Given the description of an element on the screen output the (x, y) to click on. 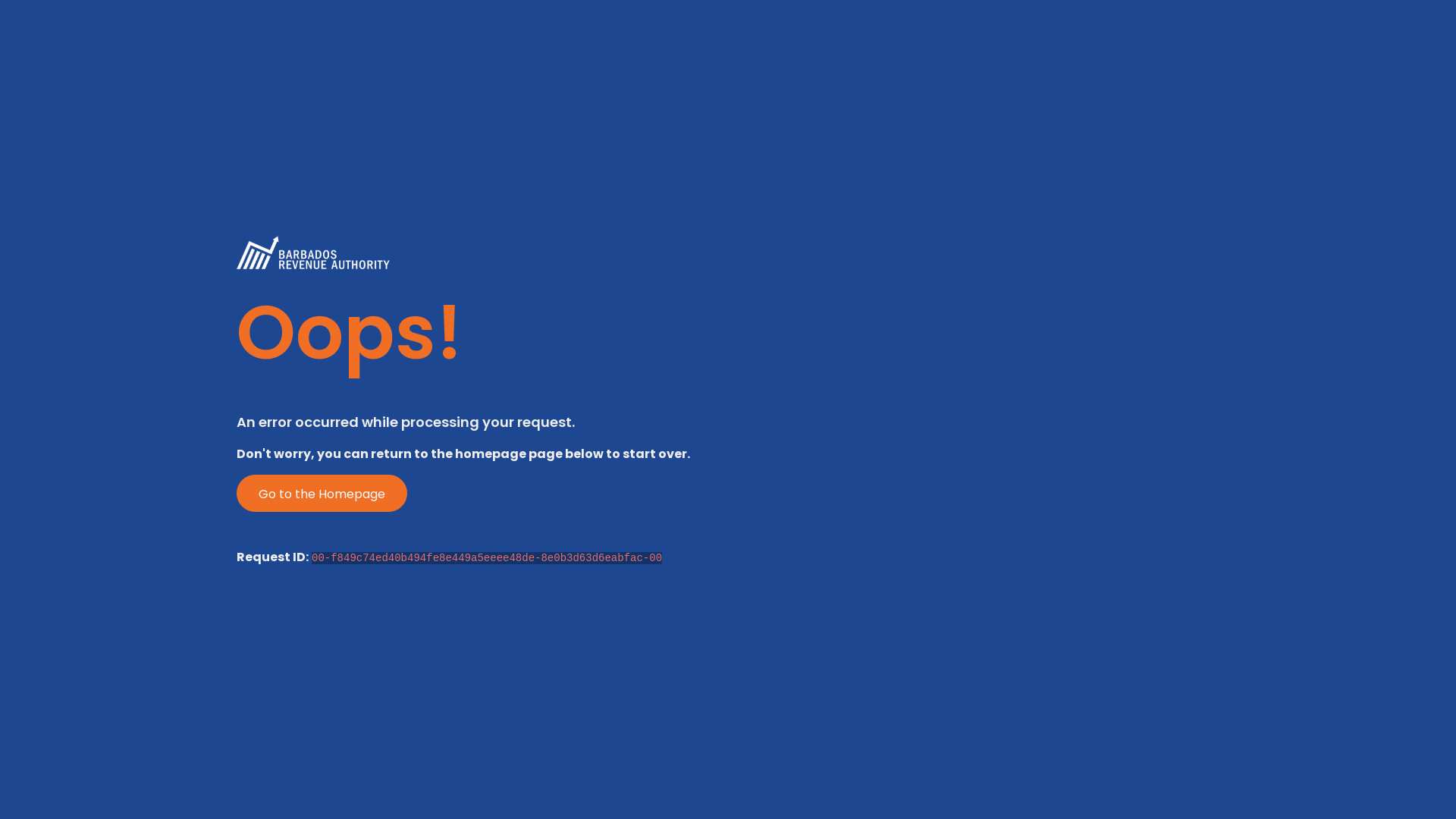
Go to the Homepage Element type: text (321, 492)
